Given the description of an element on the screen output the (x, y) to click on. 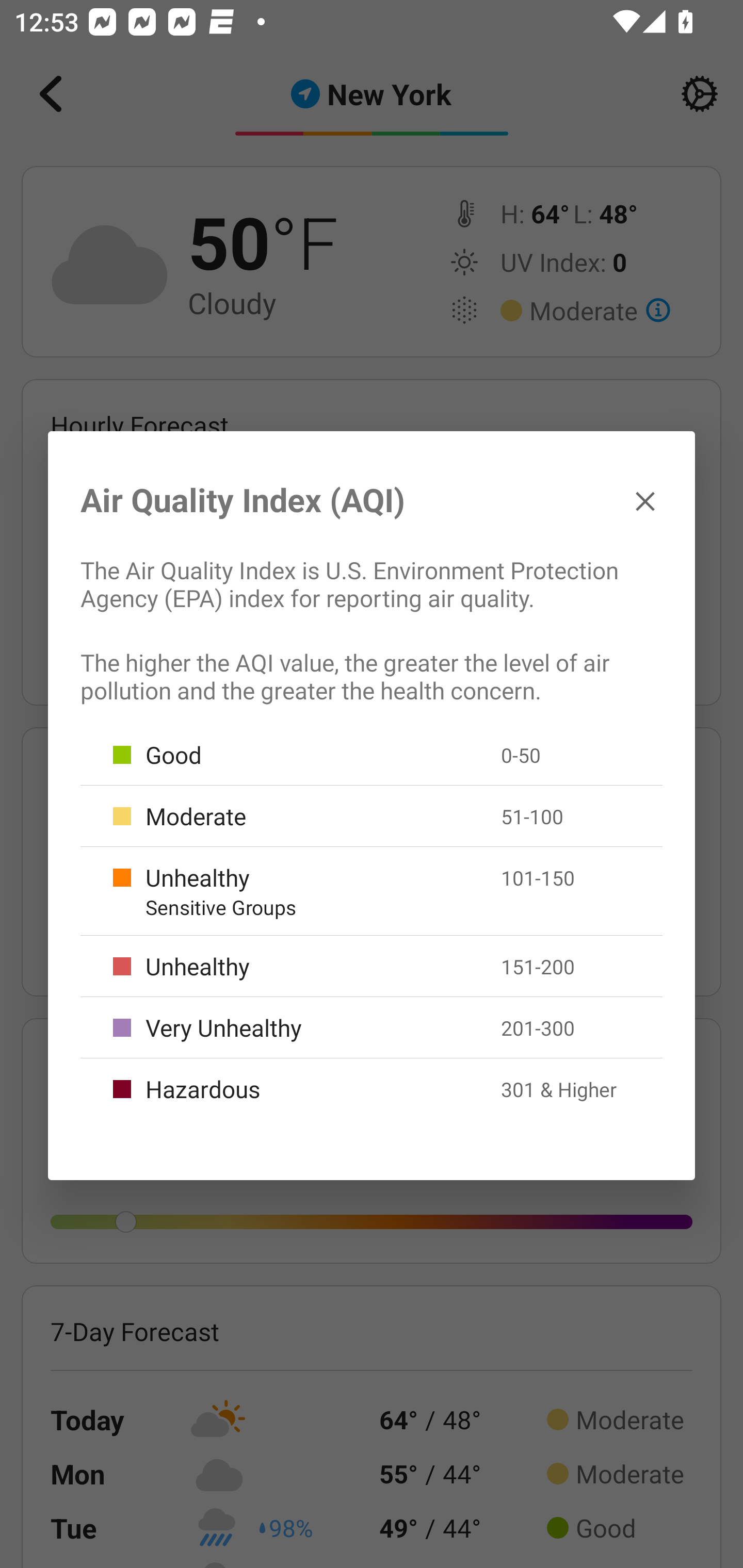
✕ (644, 499)
